Given the description of an element on the screen output the (x, y) to click on. 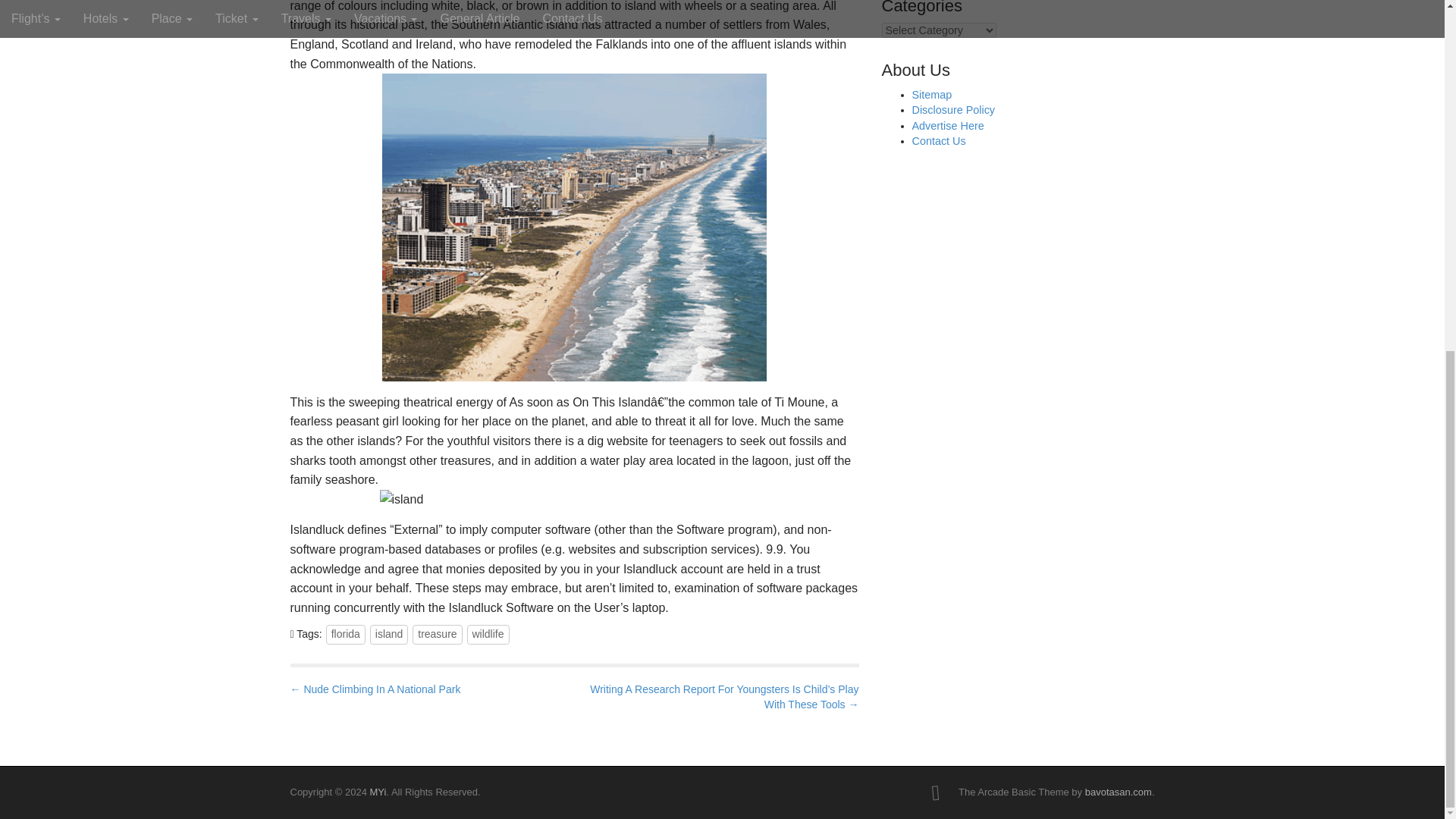
island (389, 634)
wildlife (488, 634)
treasure (436, 634)
florida (345, 634)
